Given the description of an element on the screen output the (x, y) to click on. 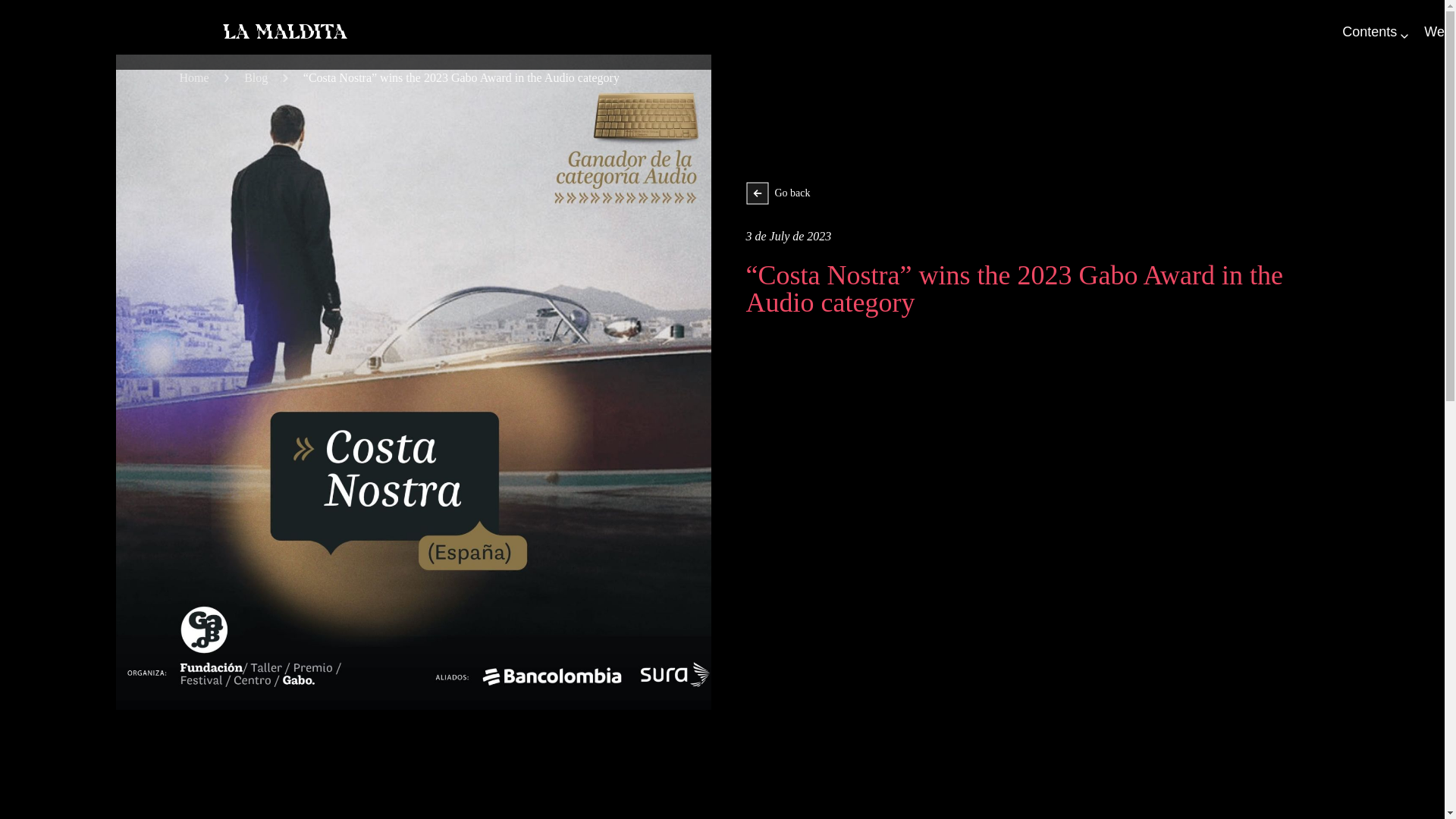
Blog (255, 77)
Go back (1037, 192)
Home (193, 77)
